Given the description of an element on the screen output the (x, y) to click on. 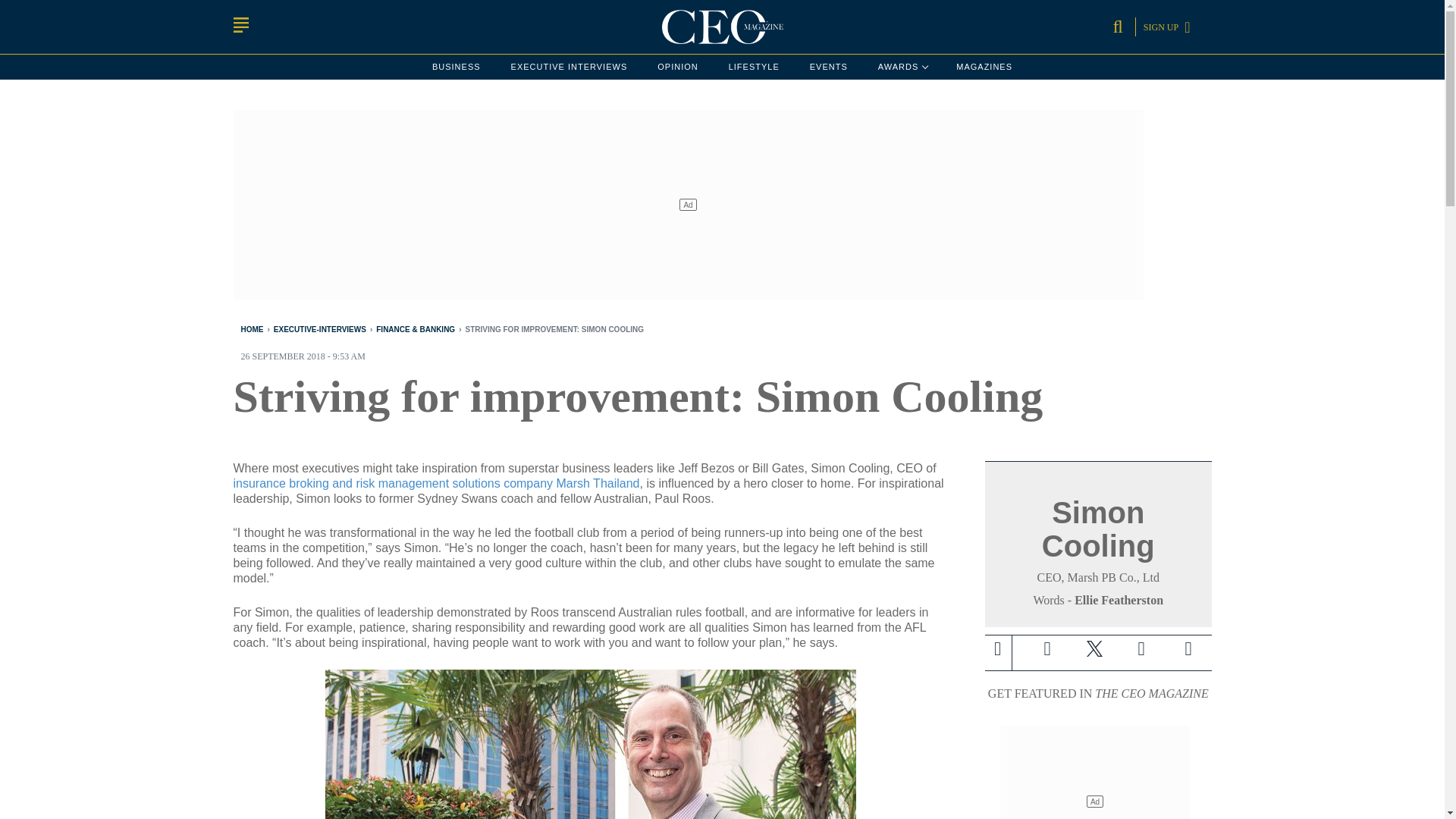
BUSINESS (456, 67)
Opinion (677, 67)
EXECUTIVE INTERVIEWS (569, 67)
EVENTS (828, 67)
LIFESTYLE (753, 67)
OPINION (677, 67)
GET FEATURED IN THE CEO MAGAZINE (1098, 693)
Sign-up (1188, 648)
Executive Interviews (569, 67)
